Given the description of an element on the screen output the (x, y) to click on. 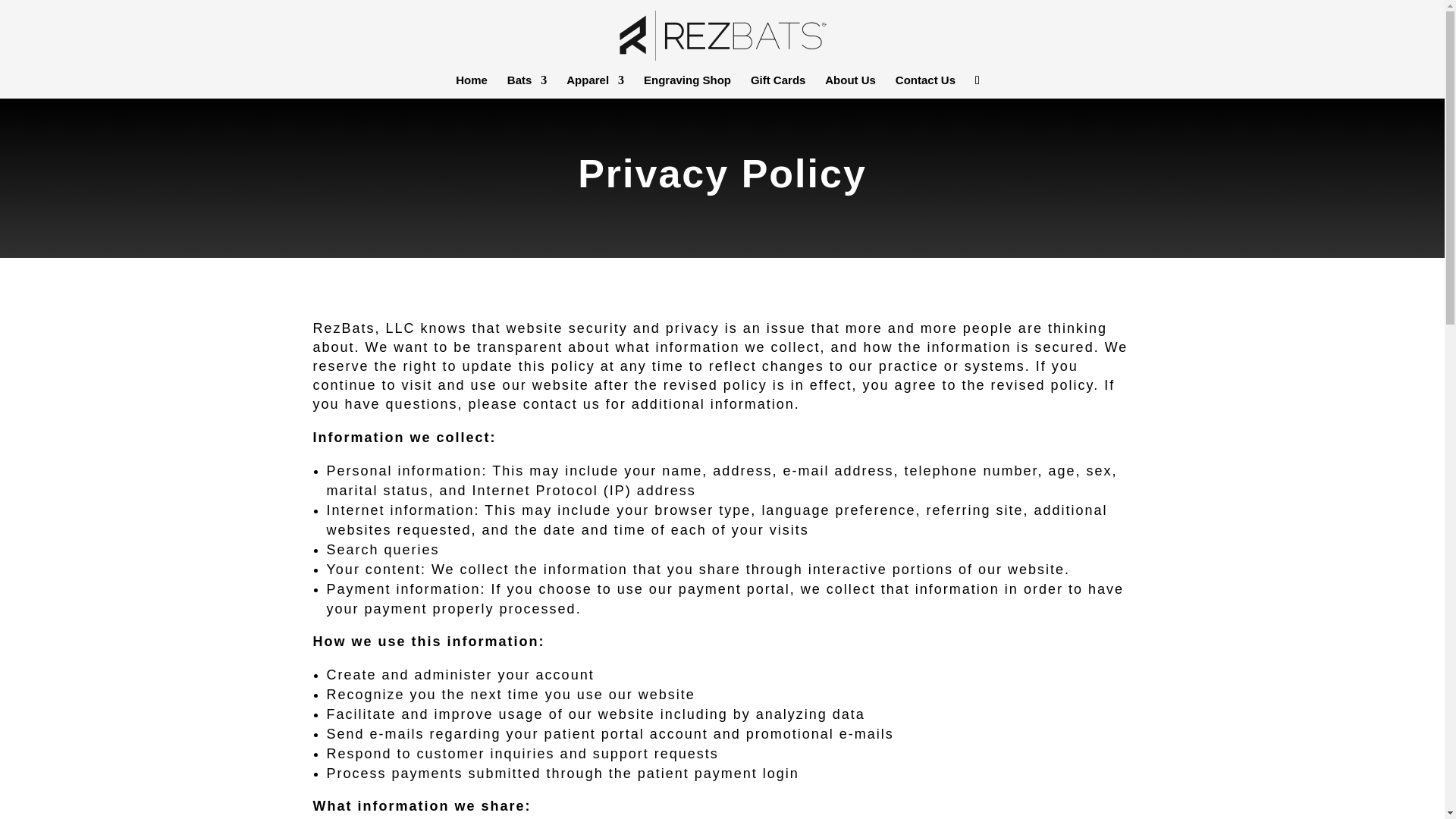
About Us (850, 86)
Contact Us (925, 86)
Engraving Shop (686, 86)
Bats (526, 86)
Home (471, 86)
Apparel (595, 86)
Gift Cards (778, 86)
